Given the description of an element on the screen output the (x, y) to click on. 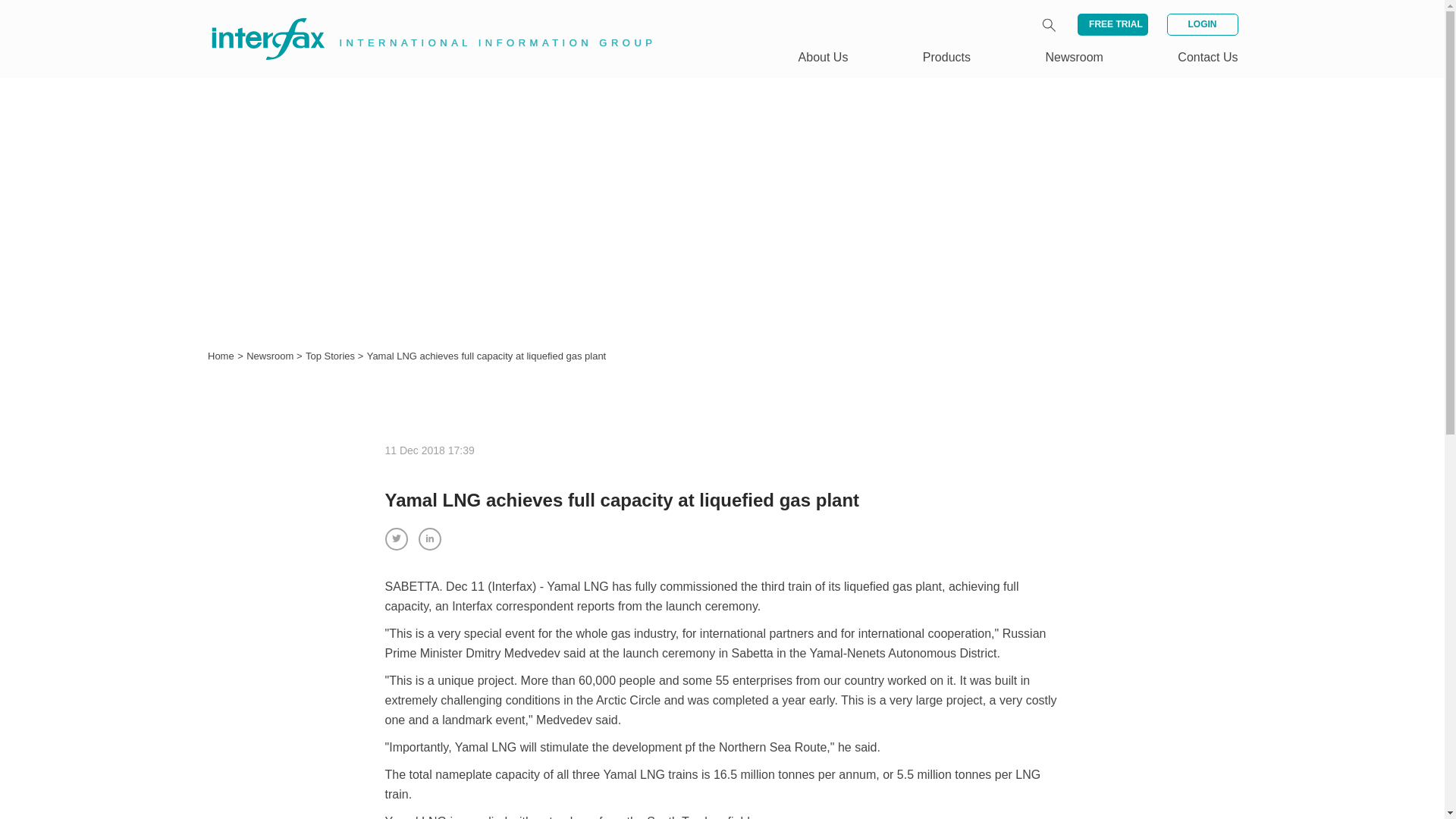
Contact Us (1207, 56)
Contact Us (1207, 56)
INTERNATIONAL INFORMATION GROUP (421, 20)
LOGIN (1201, 24)
Newsroom (271, 355)
Top Stories (331, 355)
Newsroom (271, 355)
Products (947, 56)
About Us (822, 56)
Newsroom (1073, 56)
